Given the description of an element on the screen output the (x, y) to click on. 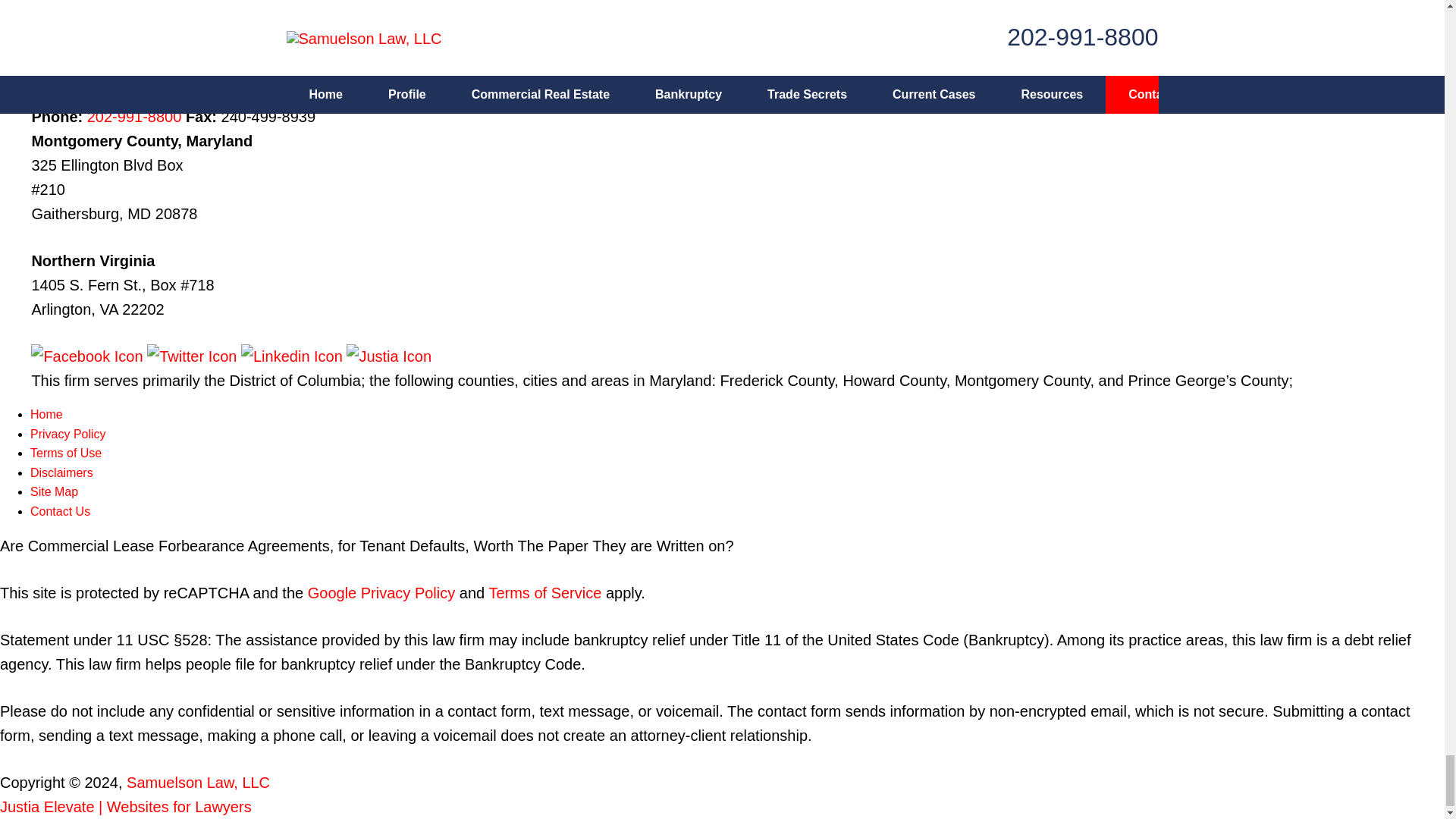
Facebook (88, 356)
Twitter (194, 356)
Home (46, 413)
Samuelson Law, LLC (197, 782)
Privacy Policy (68, 433)
202-991-8800 (134, 116)
Justia (388, 356)
Disclaimers (61, 472)
Terms of Service (544, 592)
Site Map (54, 491)
